Given the description of an element on the screen output the (x, y) to click on. 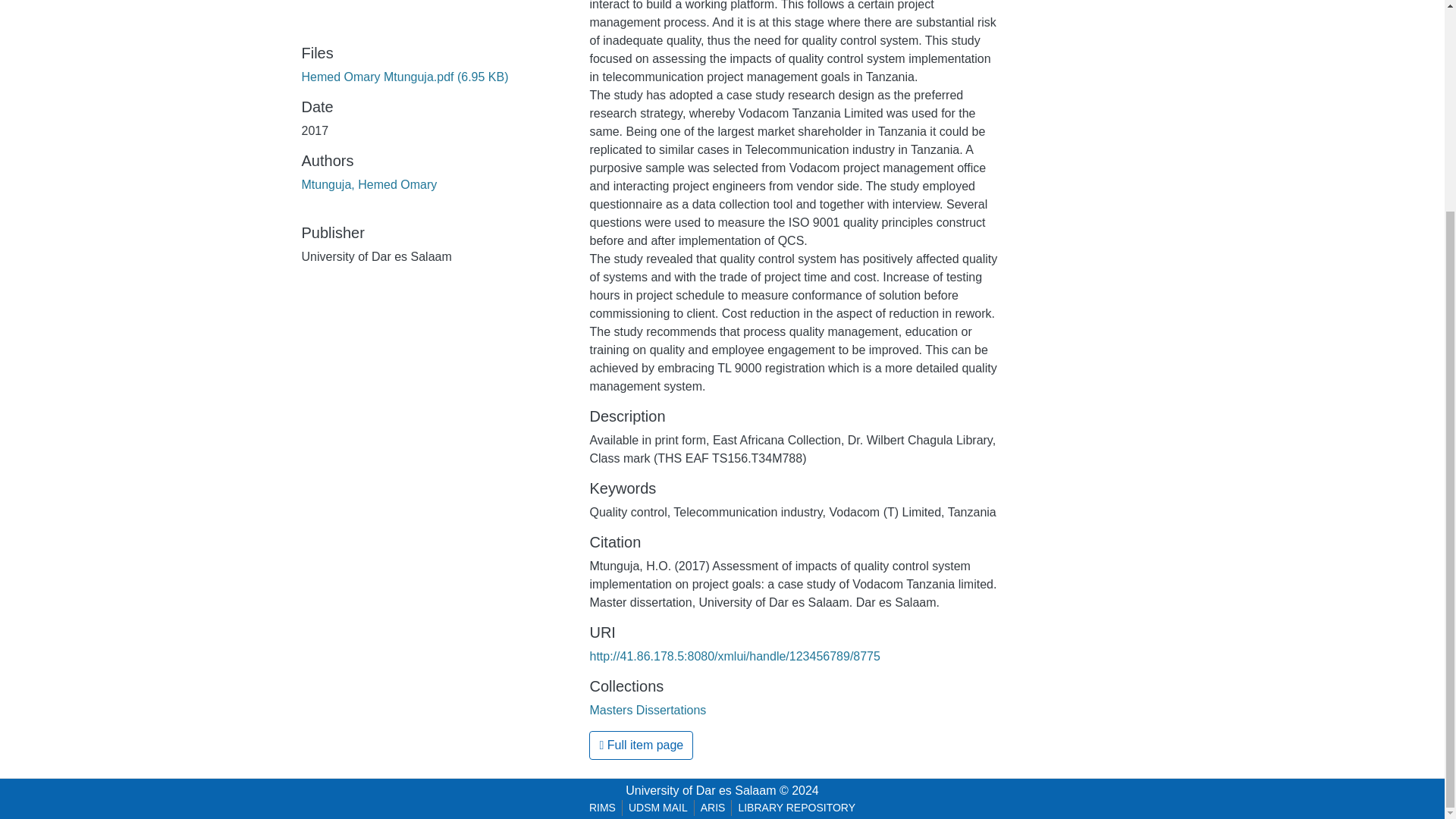
Full item page (641, 745)
Masters Dissertations (647, 709)
RIMS (602, 807)
LIBRARY REPOSITORY (796, 807)
UDSM MAIL (658, 807)
ARIS (713, 807)
Mtunguja, Hemed Omary (369, 184)
